Given the description of an element on the screen output the (x, y) to click on. 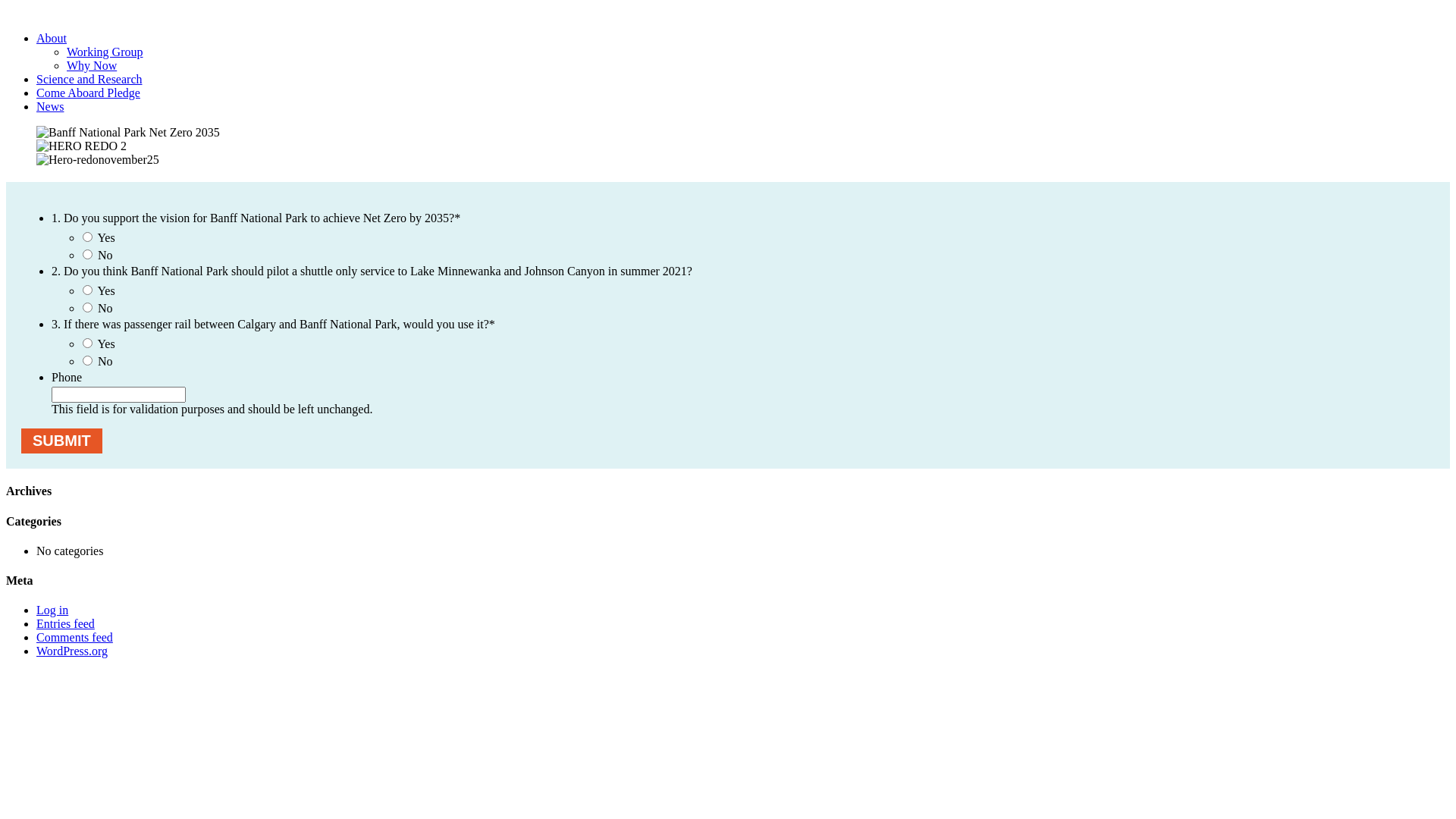
Come Aboard Pledge Element type: text (88, 92)
SUBMIT Element type: text (61, 440)
Working Group Element type: text (104, 51)
Science and Research Element type: text (88, 78)
Why Now Element type: text (91, 65)
Comments feed Element type: text (74, 636)
News Element type: text (49, 106)
Entries feed Element type: text (65, 623)
Log in Element type: text (52, 609)
About Element type: text (51, 37)
WordPress.org Element type: text (71, 650)
